Given the description of an element on the screen output the (x, y) to click on. 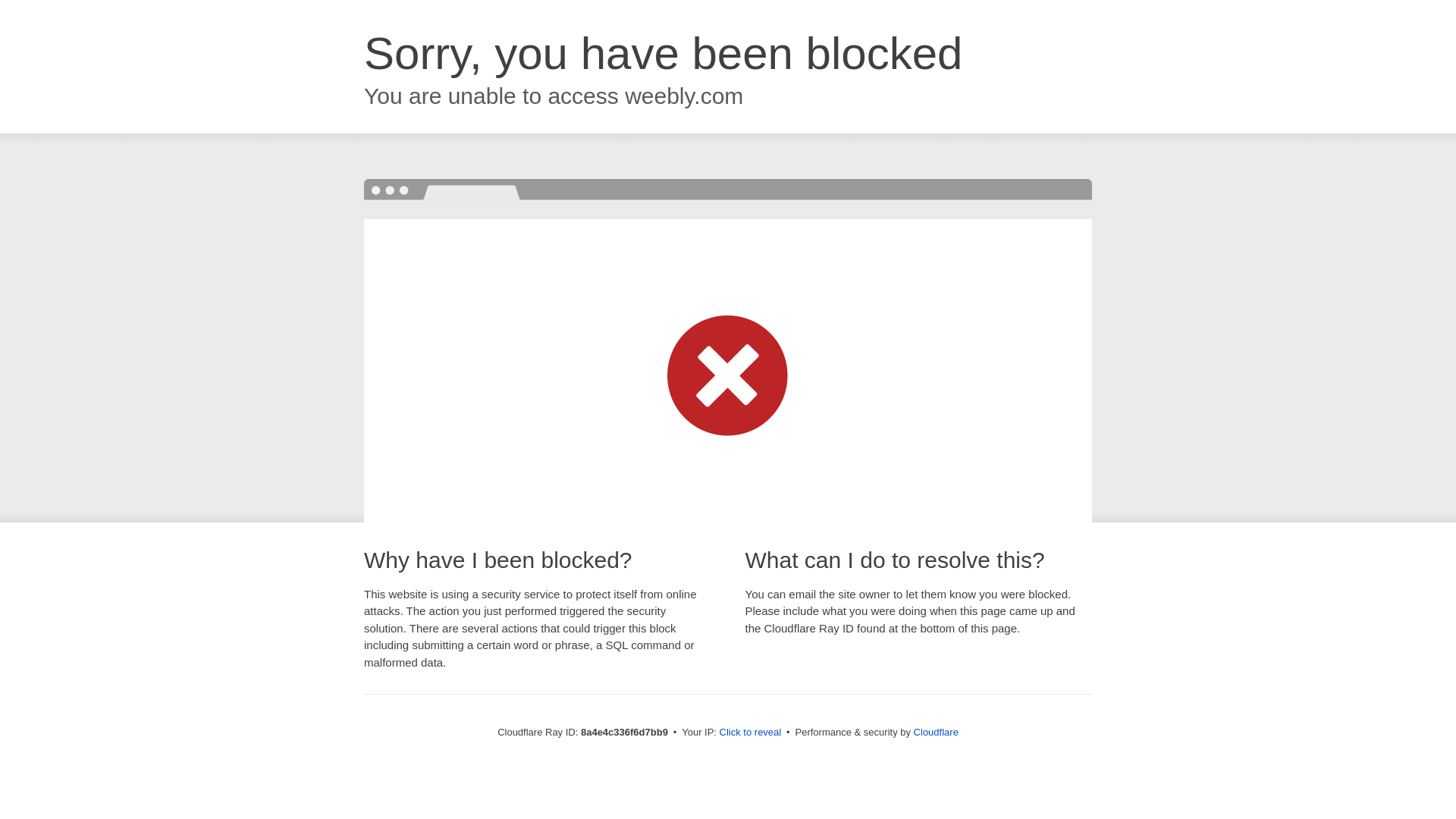
Cloudflare (936, 731)
Click to reveal (750, 732)
